Given the description of an element on the screen output the (x, y) to click on. 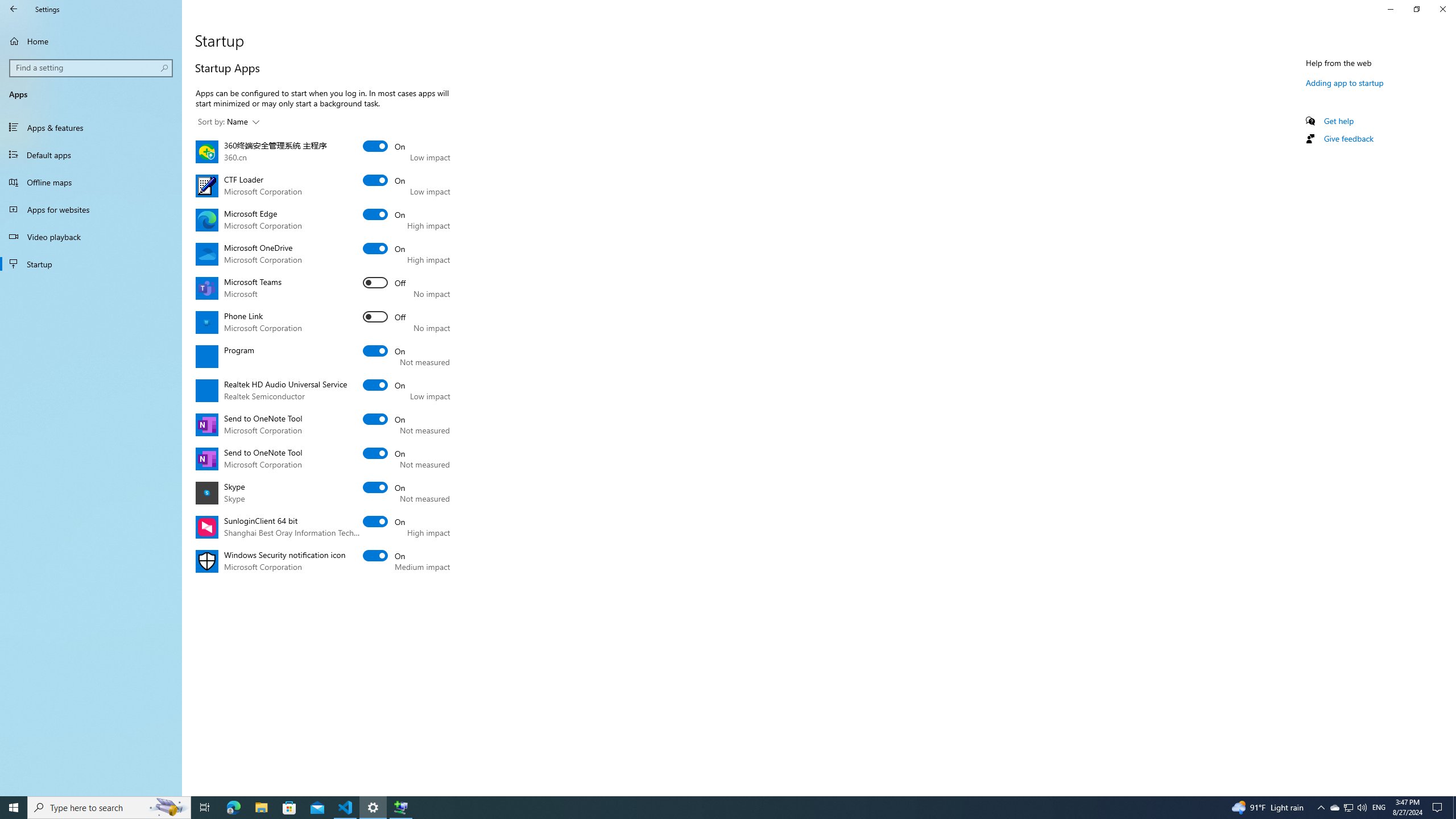
Sort by: Name (228, 122)
Search box, Find a setting (91, 67)
Video playback (91, 236)
Apps for websites (91, 208)
SunloginClient 64 bit (384, 521)
Extensible Wizards Host Process - 1 running window (400, 807)
Skype (384, 487)
Apps & features (91, 126)
